Given the description of an element on the screen output the (x, y) to click on. 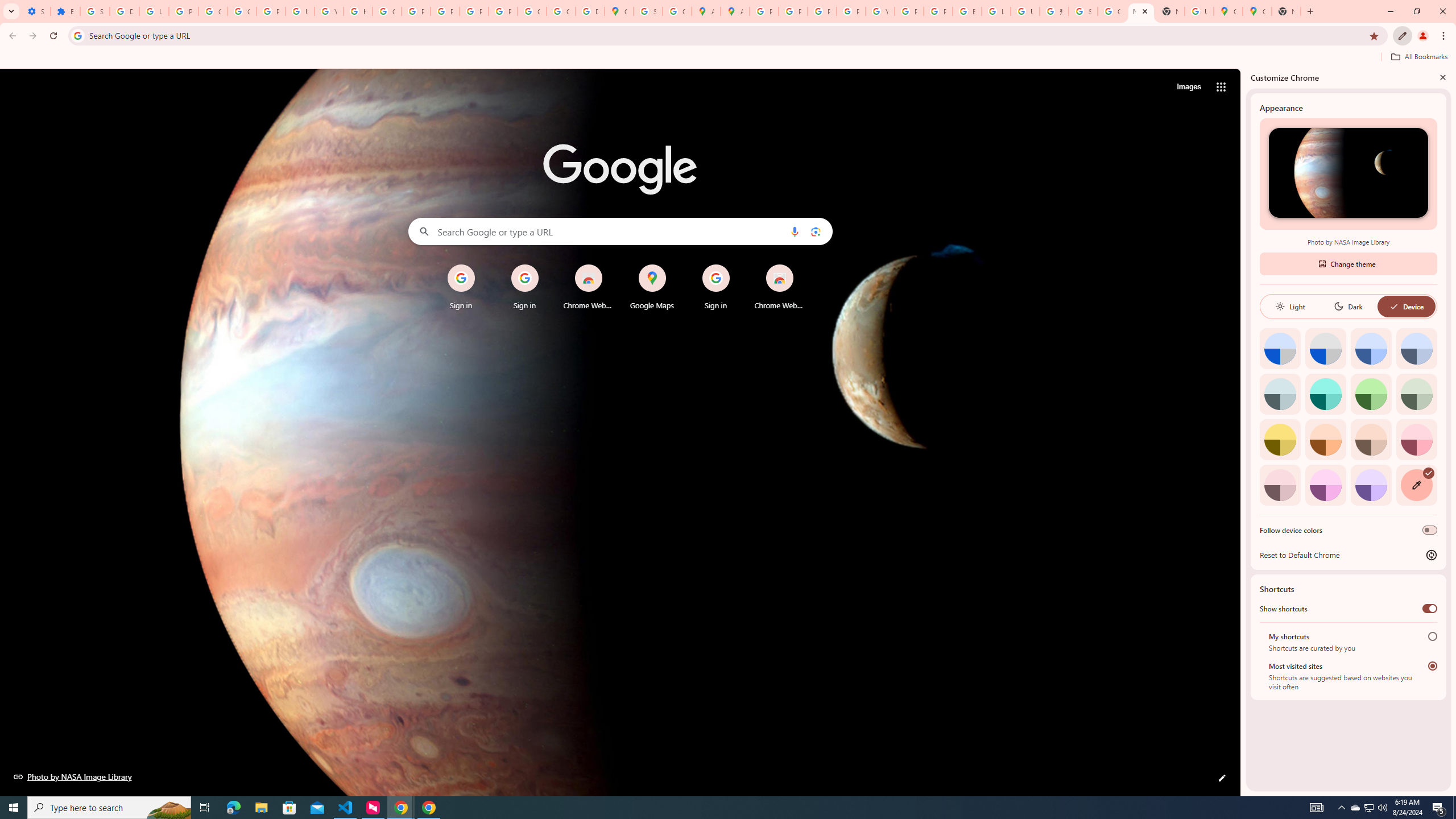
Search Google or type a URL (619, 230)
Green (1371, 393)
Side Panel Resize Handle (1242, 431)
YouTube (327, 11)
Photo by NASA Image Library (1348, 172)
Google Maps (652, 287)
Policy Accountability and Transparency - Transparency Center (763, 11)
Default color (1279, 348)
Custom color (1416, 484)
Show shortcuts (1429, 608)
